Given the description of an element on the screen output the (x, y) to click on. 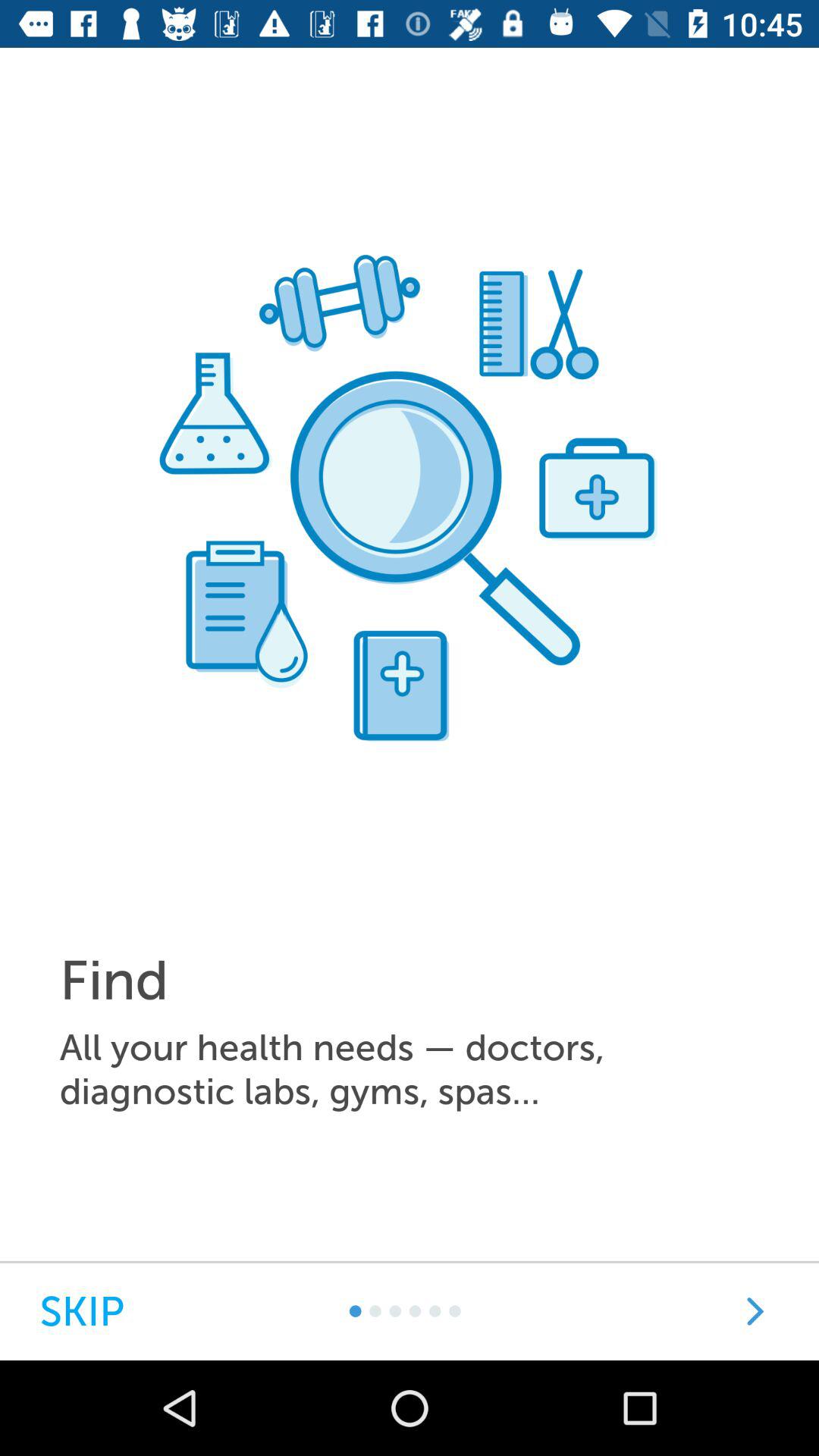
go next (755, 1311)
